Given the description of an element on the screen output the (x, y) to click on. 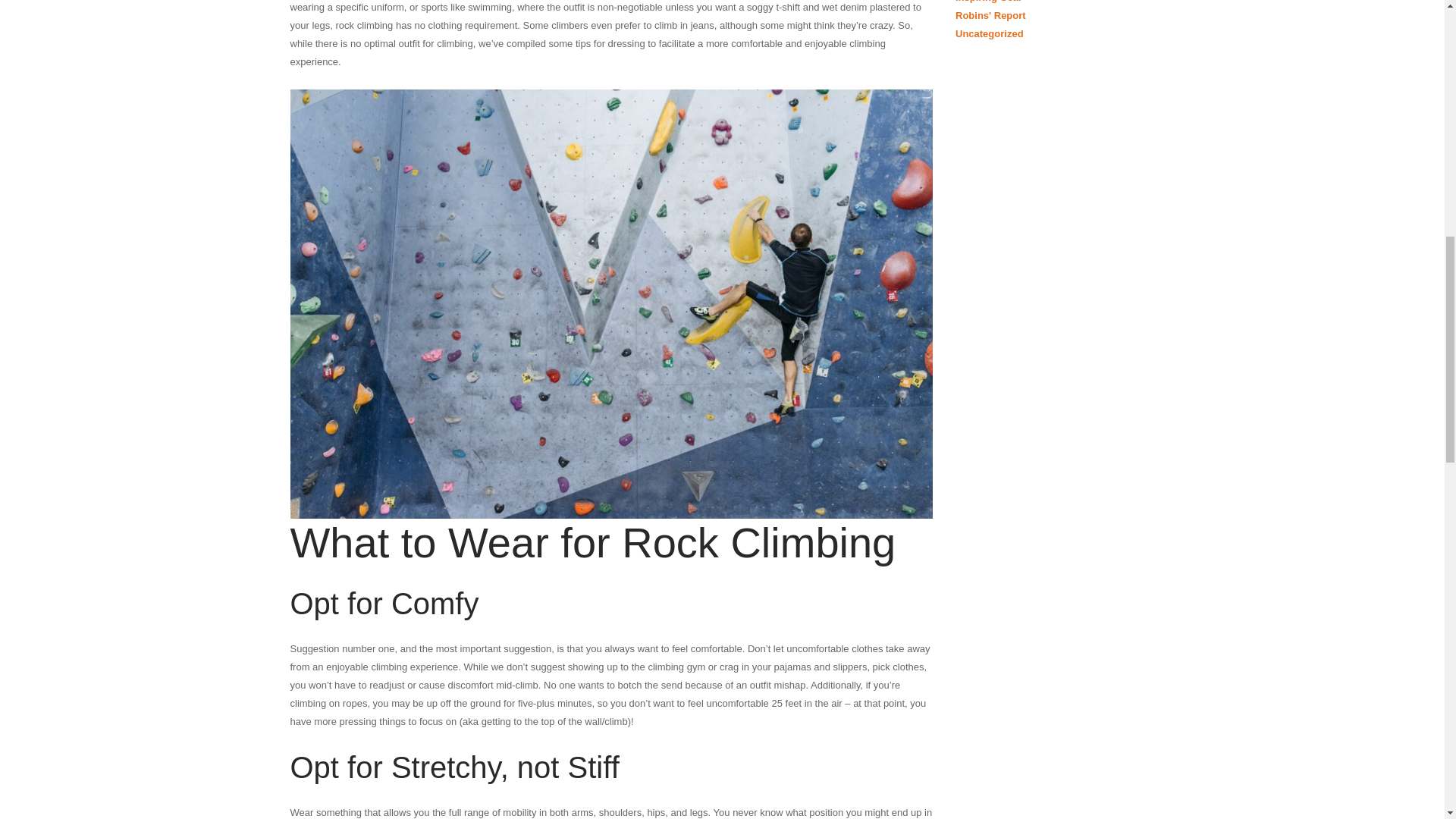
Uncategorized (989, 33)
Robins' Report (990, 15)
Inspiring Gear (988, 1)
